Given the description of an element on the screen output the (x, y) to click on. 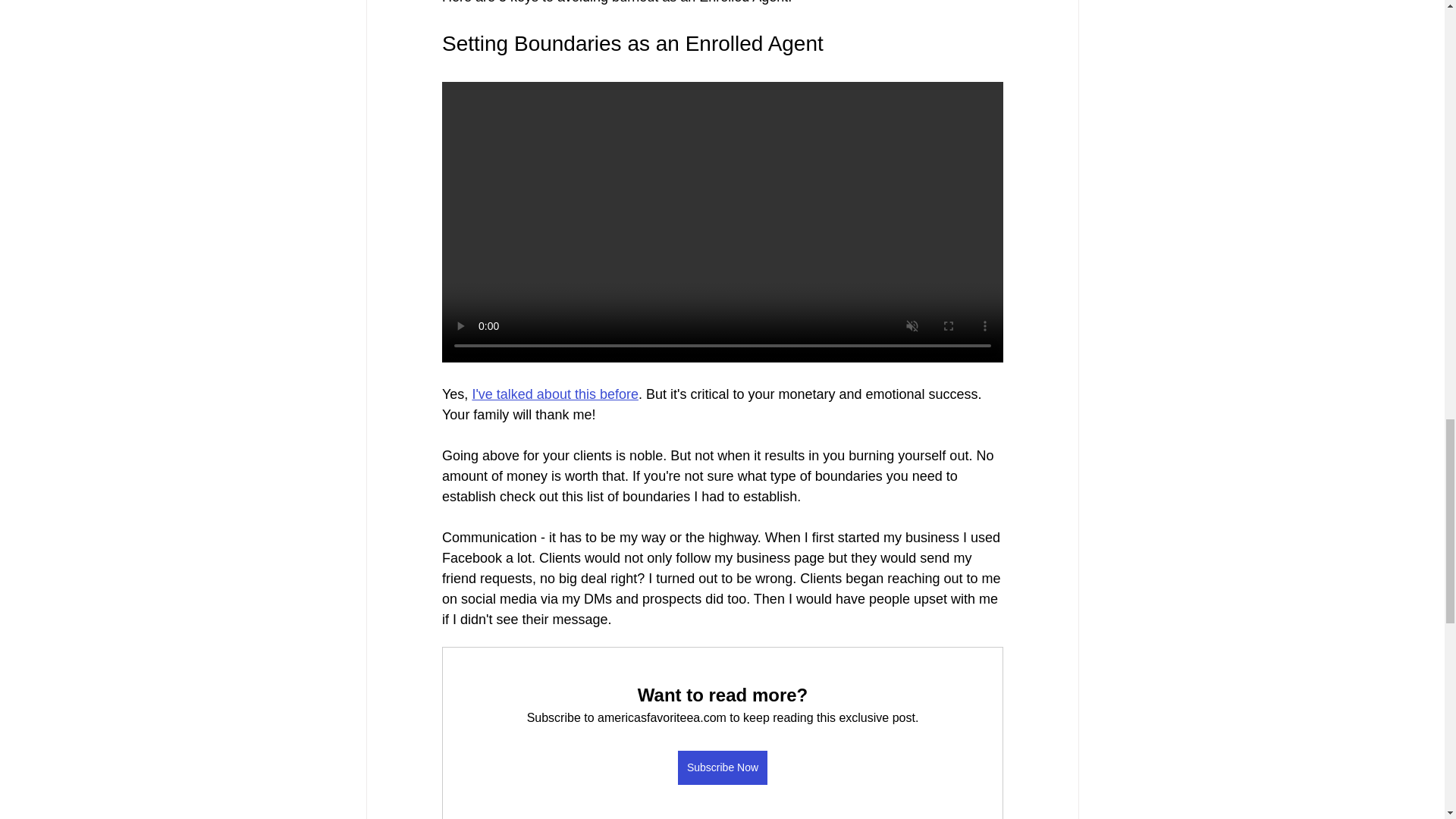
I've talked about this before (555, 394)
Subscribe Now (722, 767)
